Given the description of an element on the screen output the (x, y) to click on. 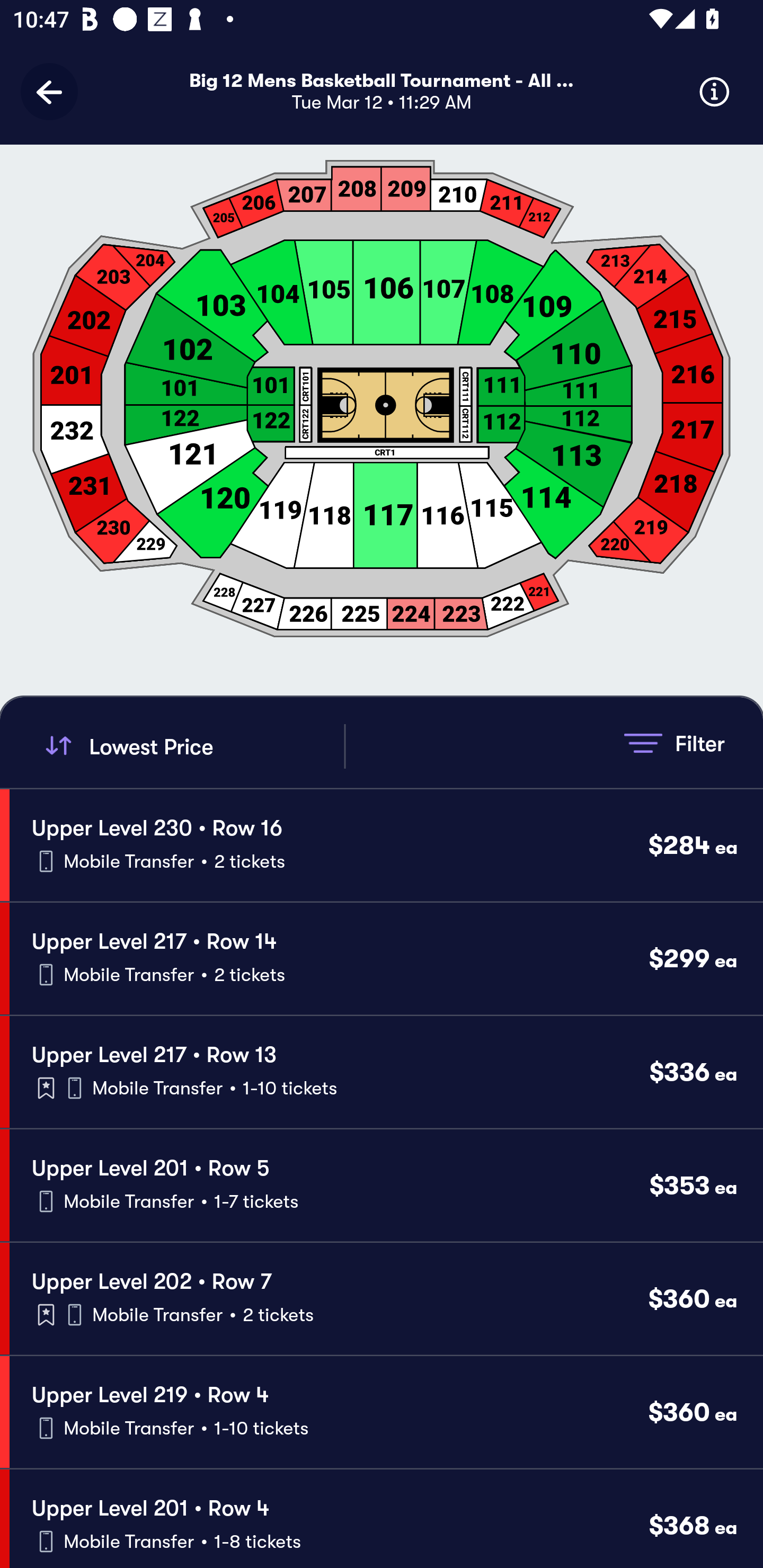
Lowest Price (191, 746)
Filter (674, 743)
